Given the description of an element on the screen output the (x, y) to click on. 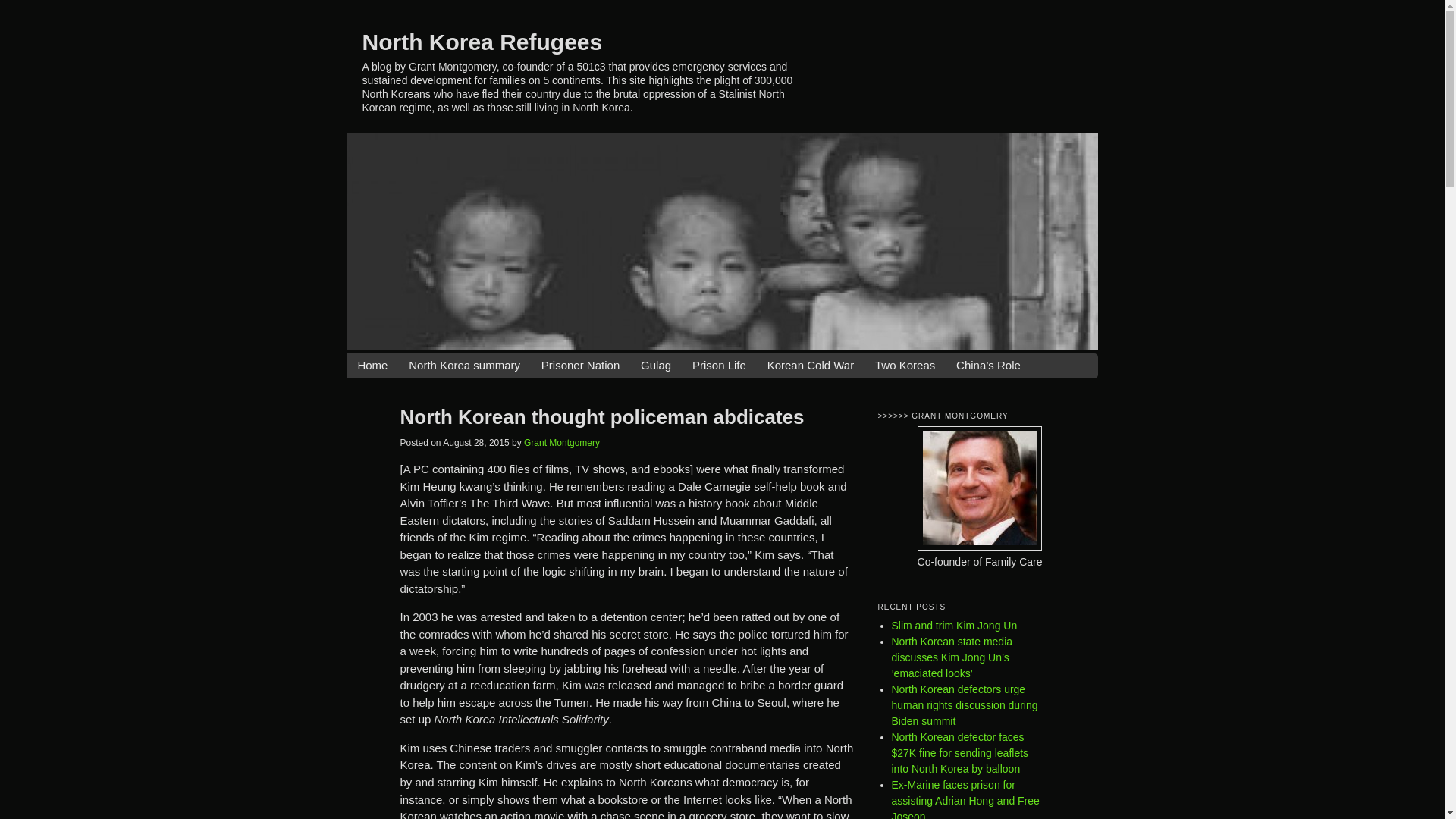
Prison Life (719, 365)
Gulag (655, 365)
Two Koreas (904, 365)
Grant Montgomery (561, 442)
Prisoner Nation (580, 365)
North Korea summary (464, 365)
Posts by Grant Montgomery (561, 442)
Korean Cold War (810, 365)
North Korea Refugees (482, 41)
North Korean thought policeman abdicates (602, 416)
Home (371, 365)
North Korean thought policeman abdicates (602, 416)
Slim and trim Kim Jong Un (954, 625)
